Given the description of an element on the screen output the (x, y) to click on. 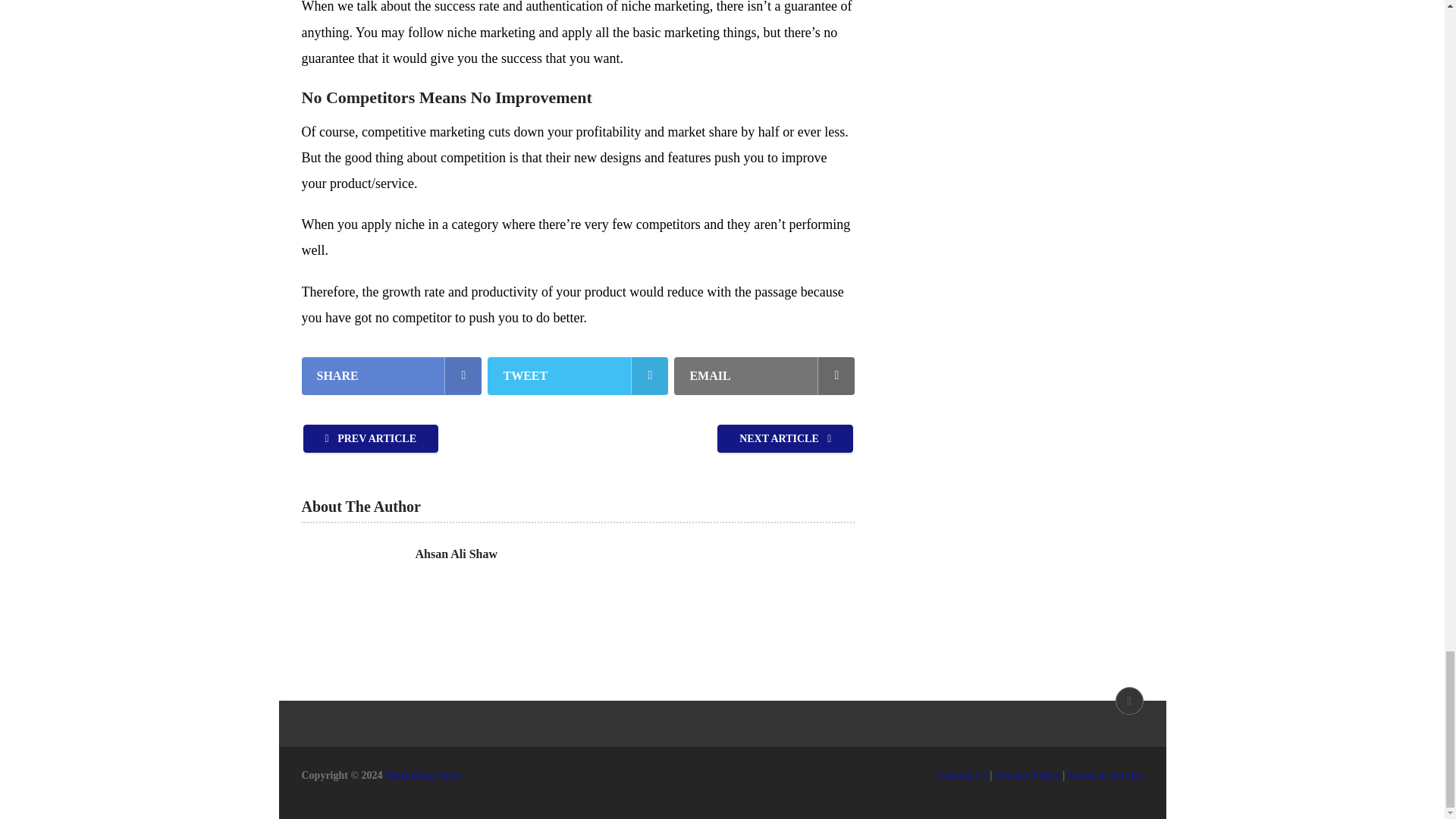
PREV ARTICLE (370, 438)
SHARE (391, 375)
Ahsan Ali Shaw (455, 554)
TWEET (577, 375)
NEXT ARTICLE (785, 438)
EMAIL (764, 375)
